Given the description of an element on the screen output the (x, y) to click on. 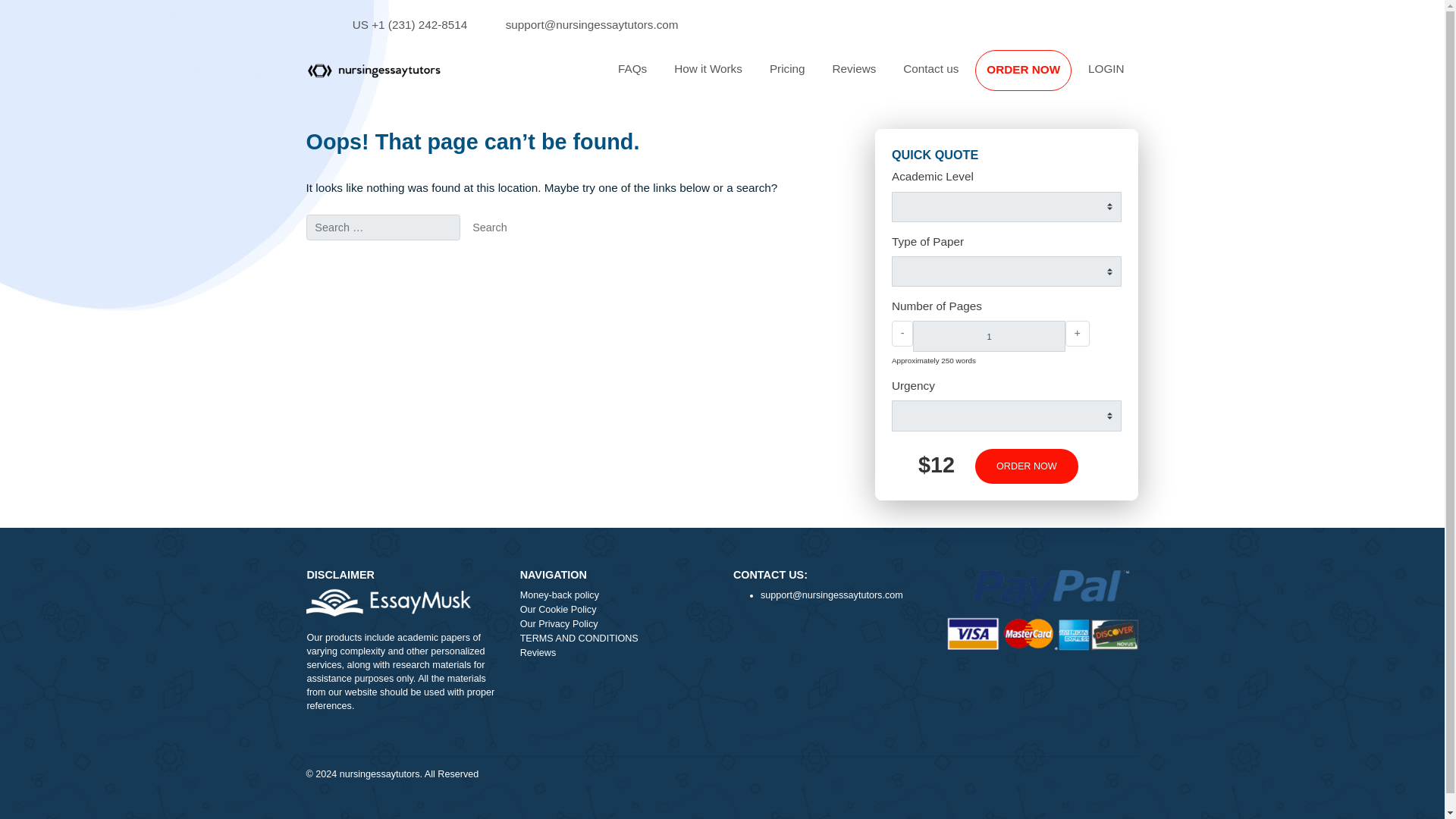
Pricing (875, 76)
FAQs (702, 76)
Contact us (1034, 76)
ORDER NOW (1137, 77)
How it Works (786, 76)
LOGIN (1229, 76)
Reviews (948, 76)
FAQs (702, 76)
Search for: (425, 252)
TERMS AND CONDITIONS (685, 709)
